Given the description of an element on the screen output the (x, y) to click on. 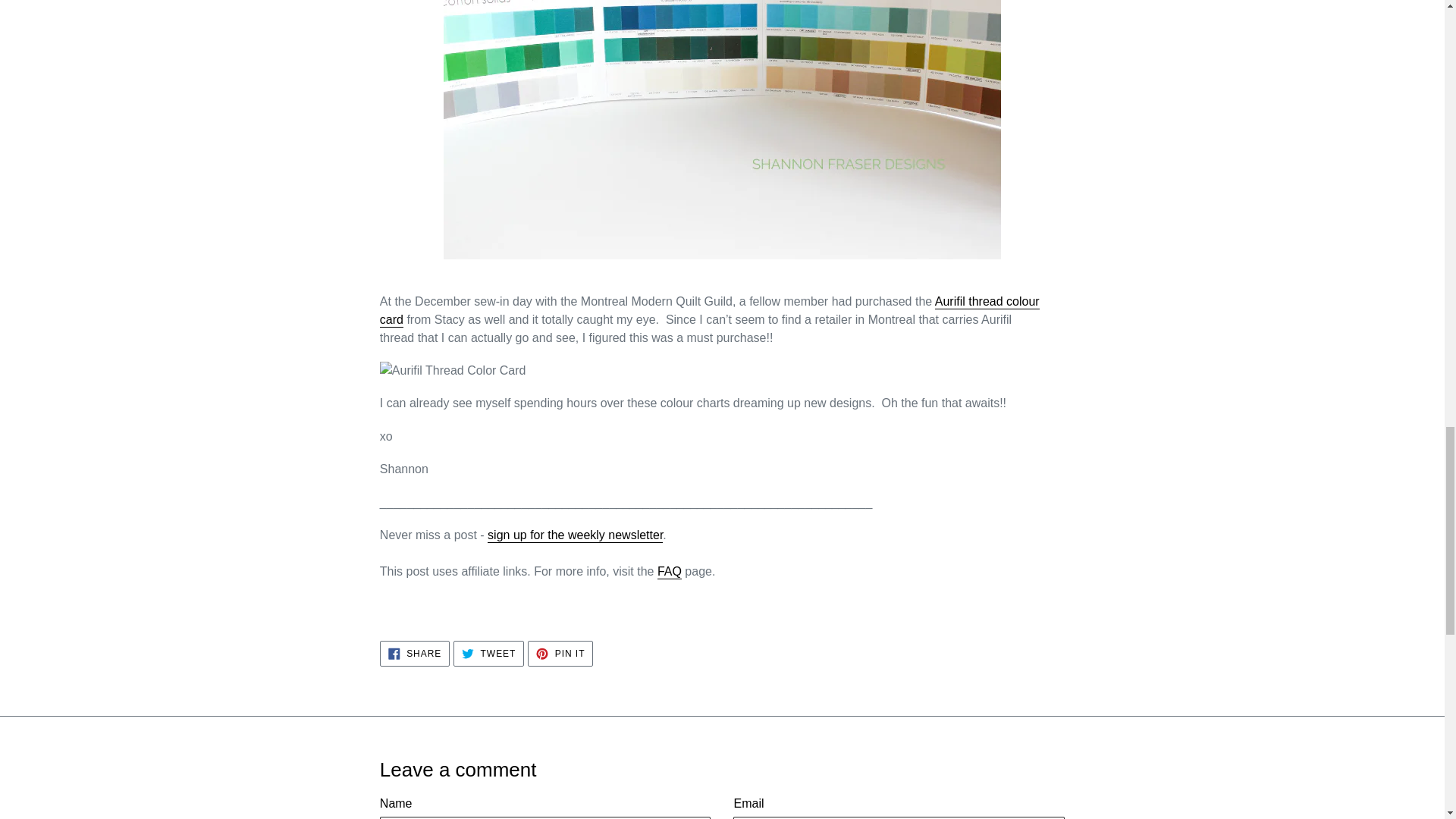
Shannon Fraser Designs' Newsletter sign up (574, 535)
Aurifil Thread colour card from Craft de Ville (709, 310)
